Given the description of an element on the screen output the (x, y) to click on. 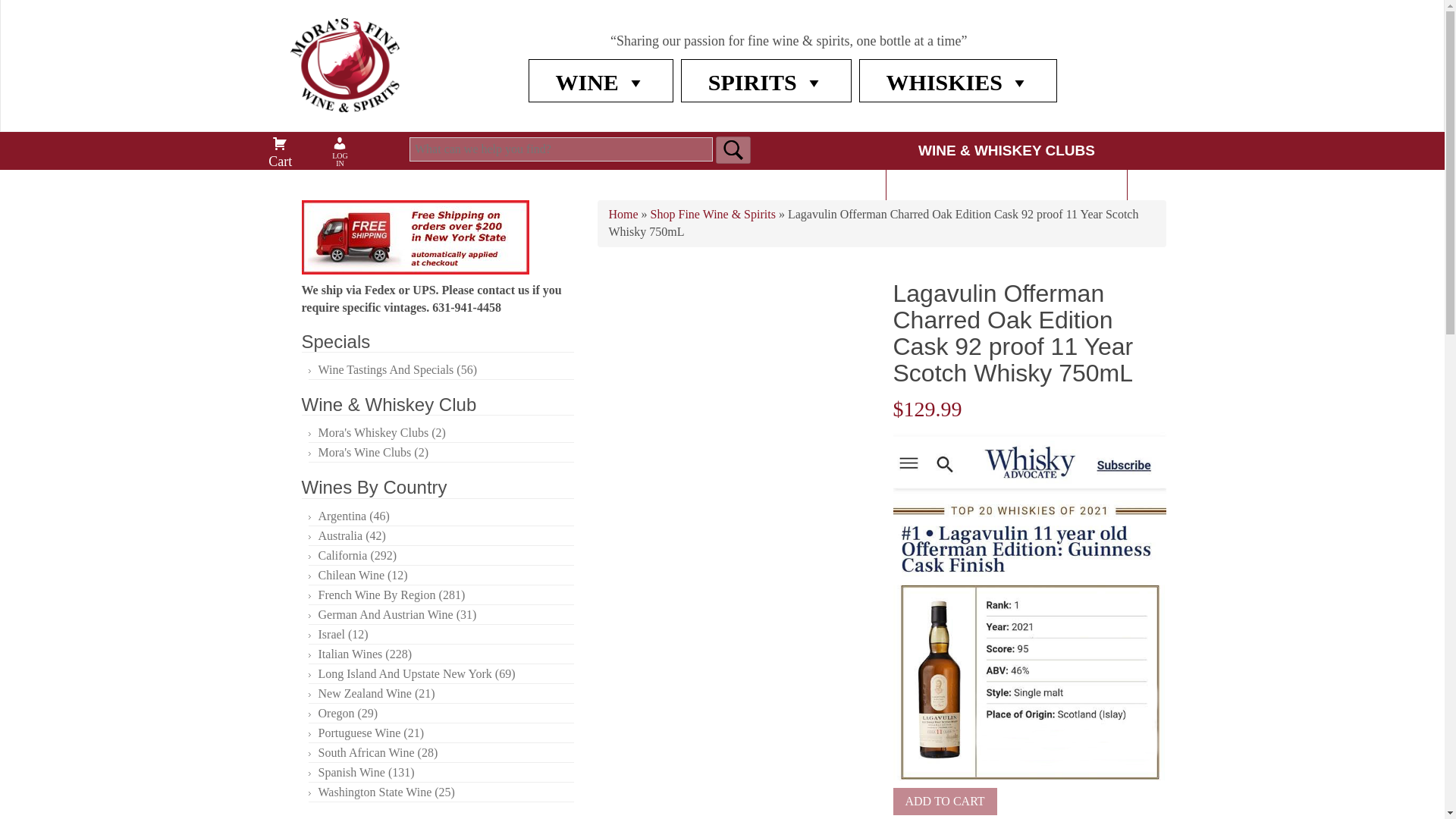
SPIRITS (765, 82)
LOG IN (339, 143)
WHISKIES (957, 82)
WINE (599, 82)
Cart (279, 143)
